Given the description of an element on the screen output the (x, y) to click on. 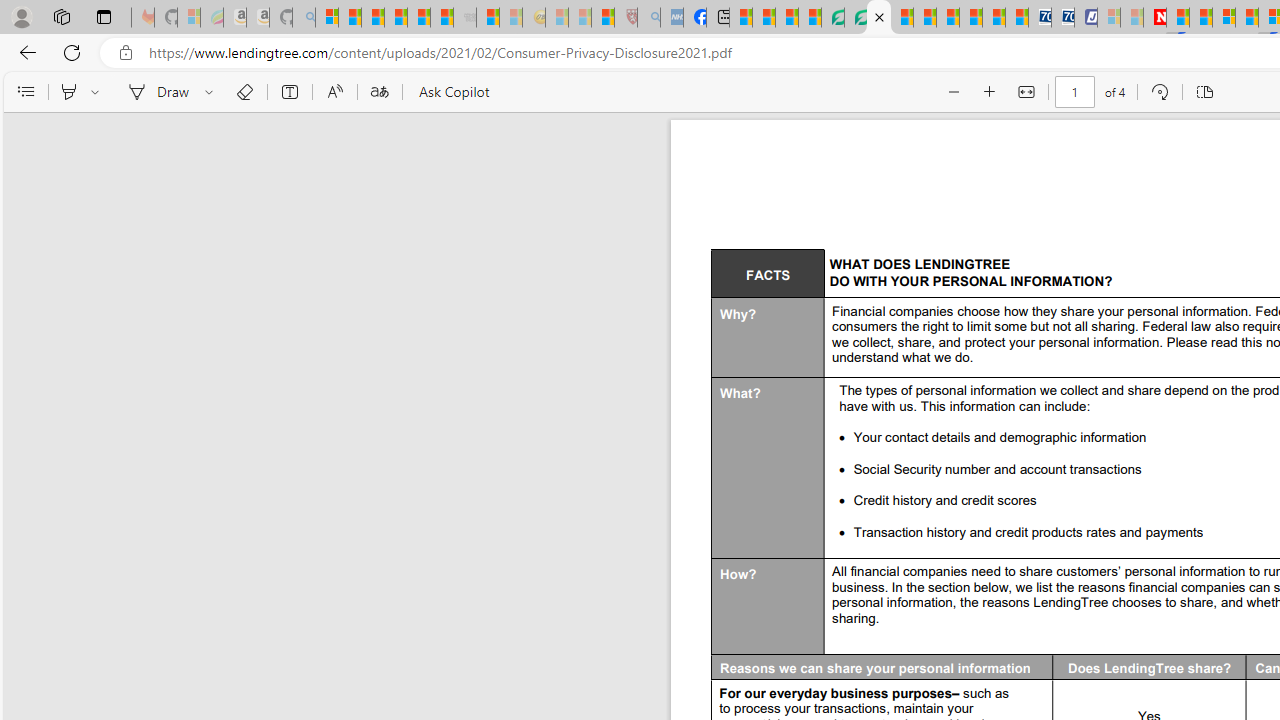
Select a highlight color (98, 92)
Microsoft-Report a Concern to Bing - Sleeping (188, 17)
Add text (289, 92)
Local - MSN (602, 17)
Latest Politics News & Archive | Newsweek.com (1155, 17)
LendingTree - Compare Lenders (832, 17)
Robert H. Shmerling, MD - Harvard Health - Sleeping (625, 17)
